Given the description of an element on the screen output the (x, y) to click on. 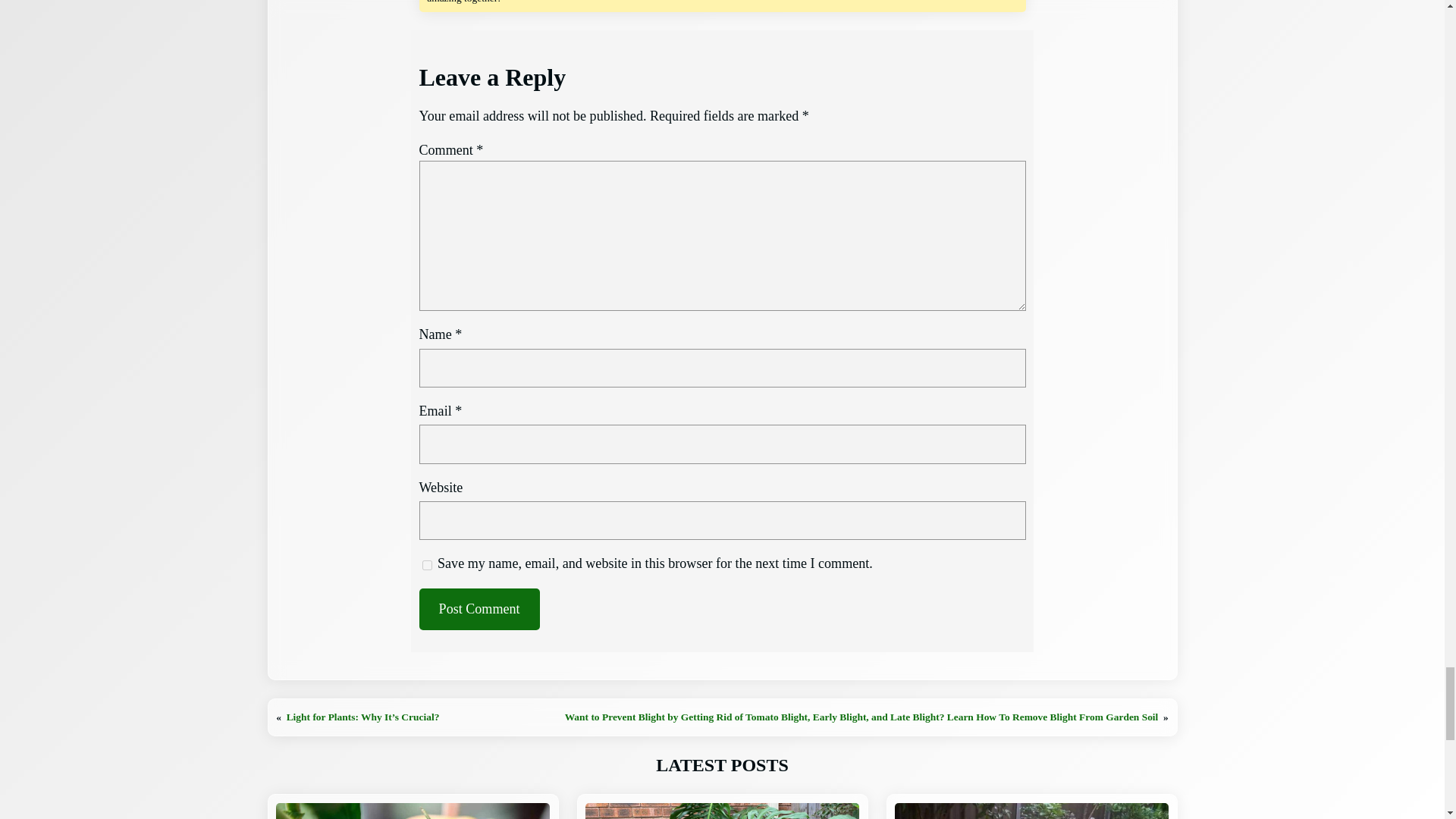
Post Comment (478, 608)
Post Comment (478, 608)
